Given the description of an element on the screen output the (x, y) to click on. 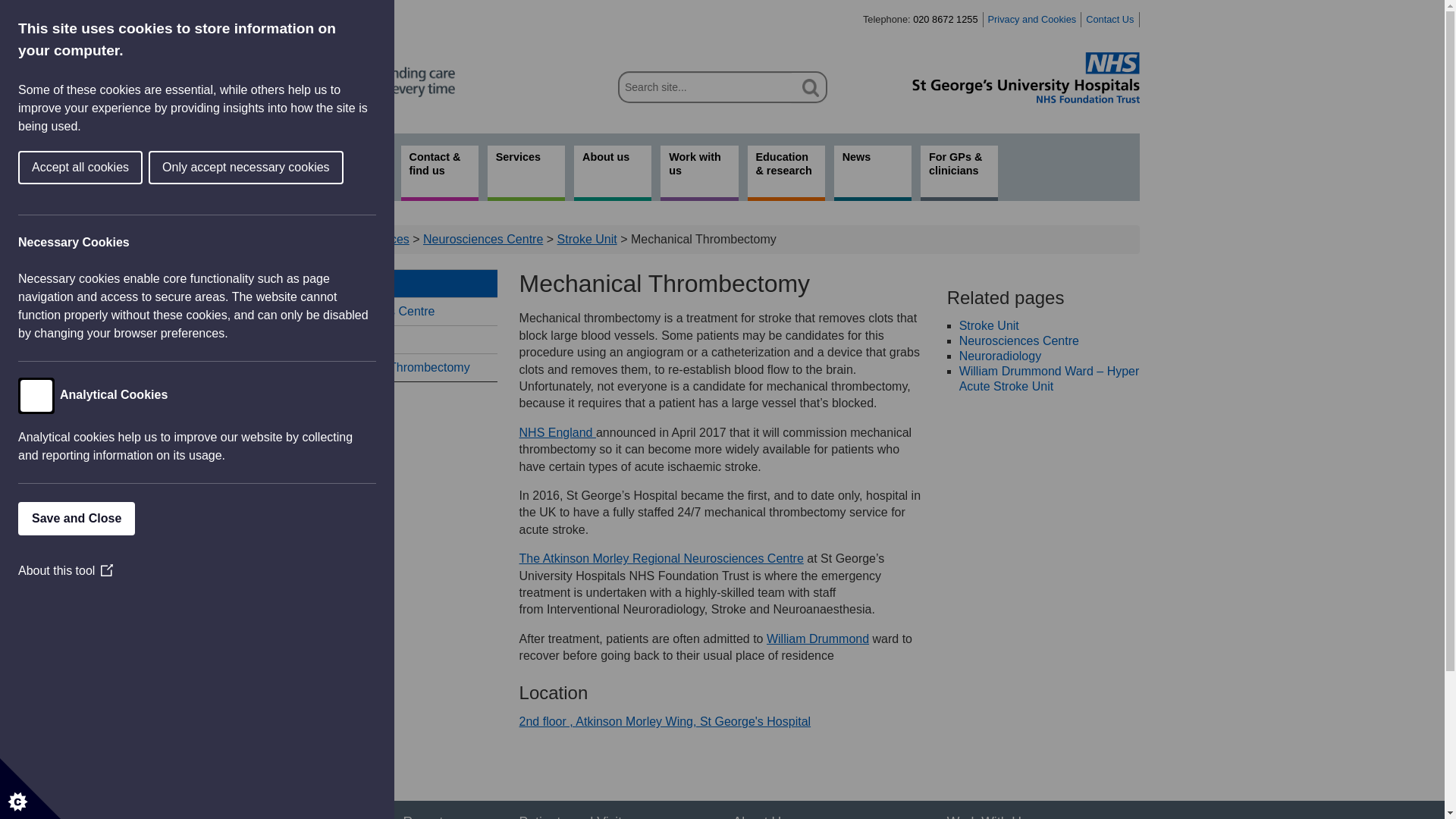
Services (385, 238)
St George's University Hospitals NHS Foundation Trust (1024, 77)
Services (525, 172)
Contact Us (1110, 19)
Stroke Unit (587, 238)
About us (611, 172)
Neurosciences Centre (400, 311)
Neurosciences Centre (483, 238)
Privacy and Cookies (1032, 19)
Go to St George's University Hospitals NHS Foundation Trust. (333, 238)
